Given the description of an element on the screen output the (x, y) to click on. 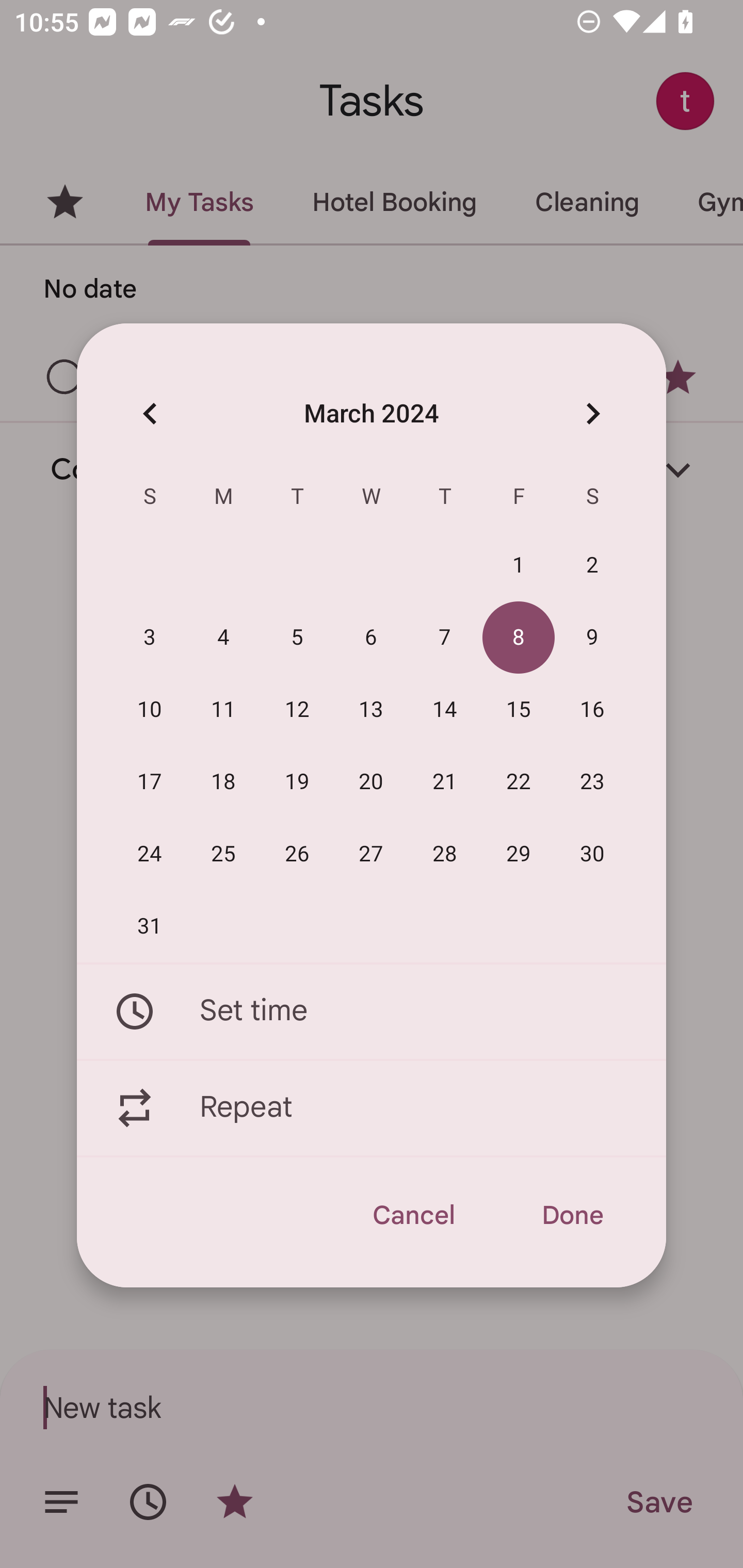
Previous month (149, 413)
Next month (592, 413)
1 01 March 2024 (518, 565)
2 02 March 2024 (592, 565)
3 03 March 2024 (149, 638)
4 04 March 2024 (223, 638)
5 05 March 2024 (297, 638)
6 06 March 2024 (370, 638)
7 07 March 2024 (444, 638)
8 08 March 2024 (518, 638)
9 09 March 2024 (592, 638)
10 10 March 2024 (149, 710)
11 11 March 2024 (223, 710)
12 12 March 2024 (297, 710)
13 13 March 2024 (370, 710)
14 14 March 2024 (444, 710)
15 15 March 2024 (518, 710)
16 16 March 2024 (592, 710)
17 17 March 2024 (149, 782)
18 18 March 2024 (223, 782)
19 19 March 2024 (297, 782)
20 20 March 2024 (370, 782)
21 21 March 2024 (444, 782)
22 22 March 2024 (518, 782)
23 23 March 2024 (592, 782)
24 24 March 2024 (149, 854)
25 25 March 2024 (223, 854)
26 26 March 2024 (297, 854)
27 27 March 2024 (370, 854)
28 28 March 2024 (444, 854)
29 29 March 2024 (518, 854)
30 30 March 2024 (592, 854)
31 31 March 2024 (149, 926)
Set time (371, 1011)
Repeat (371, 1108)
Cancel (412, 1215)
Done (571, 1215)
